Given the description of an element on the screen output the (x, y) to click on. 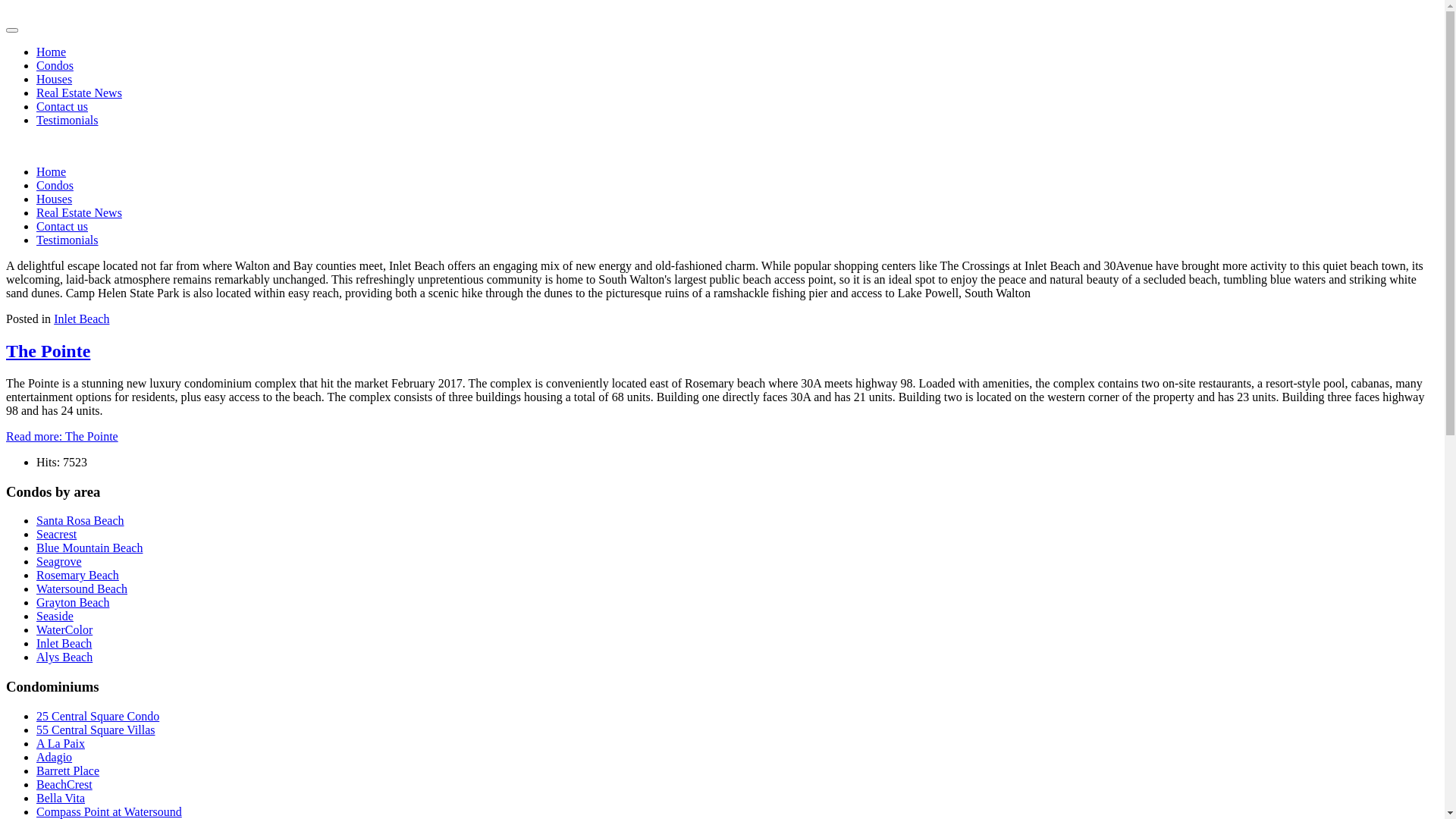
Seagrove Element type: text (58, 561)
Home Element type: text (50, 171)
Barrett Place Element type: text (67, 770)
Testimonials Element type: text (67, 239)
Rosemary Beach Element type: text (77, 574)
Real Estate News Element type: text (79, 212)
Watersound Beach Element type: text (81, 588)
Real Estate News Element type: text (79, 92)
Condos Element type: text (54, 184)
Contact us Element type: text (61, 106)
Grayton Beach Element type: text (72, 602)
Seacrest Element type: text (56, 533)
Compass Point at Watersound Element type: text (109, 811)
Read more: The Pointe Element type: text (62, 435)
WaterColor Element type: text (64, 629)
BeachCrest Element type: text (64, 784)
Blue Mountain Beach Element type: text (89, 547)
A La Paix Element type: text (60, 743)
Condos Element type: text (54, 65)
Seaside Element type: text (54, 615)
Alys Beach Element type: text (64, 656)
Contact us Element type: text (61, 225)
Bella Vita Element type: text (60, 797)
25 Central Square Condo Element type: text (97, 715)
Adagio Element type: text (54, 756)
Inlet Beach Element type: text (63, 643)
Inlet Beach Element type: text (81, 318)
Testimonials Element type: text (67, 119)
Home Element type: text (50, 51)
55 Central Square Villas Element type: text (95, 729)
The Pointe Element type: text (48, 350)
Houses Element type: text (54, 198)
Santa Rosa Beach Element type: text (80, 520)
Houses Element type: text (54, 78)
